Given the description of an element on the screen output the (x, y) to click on. 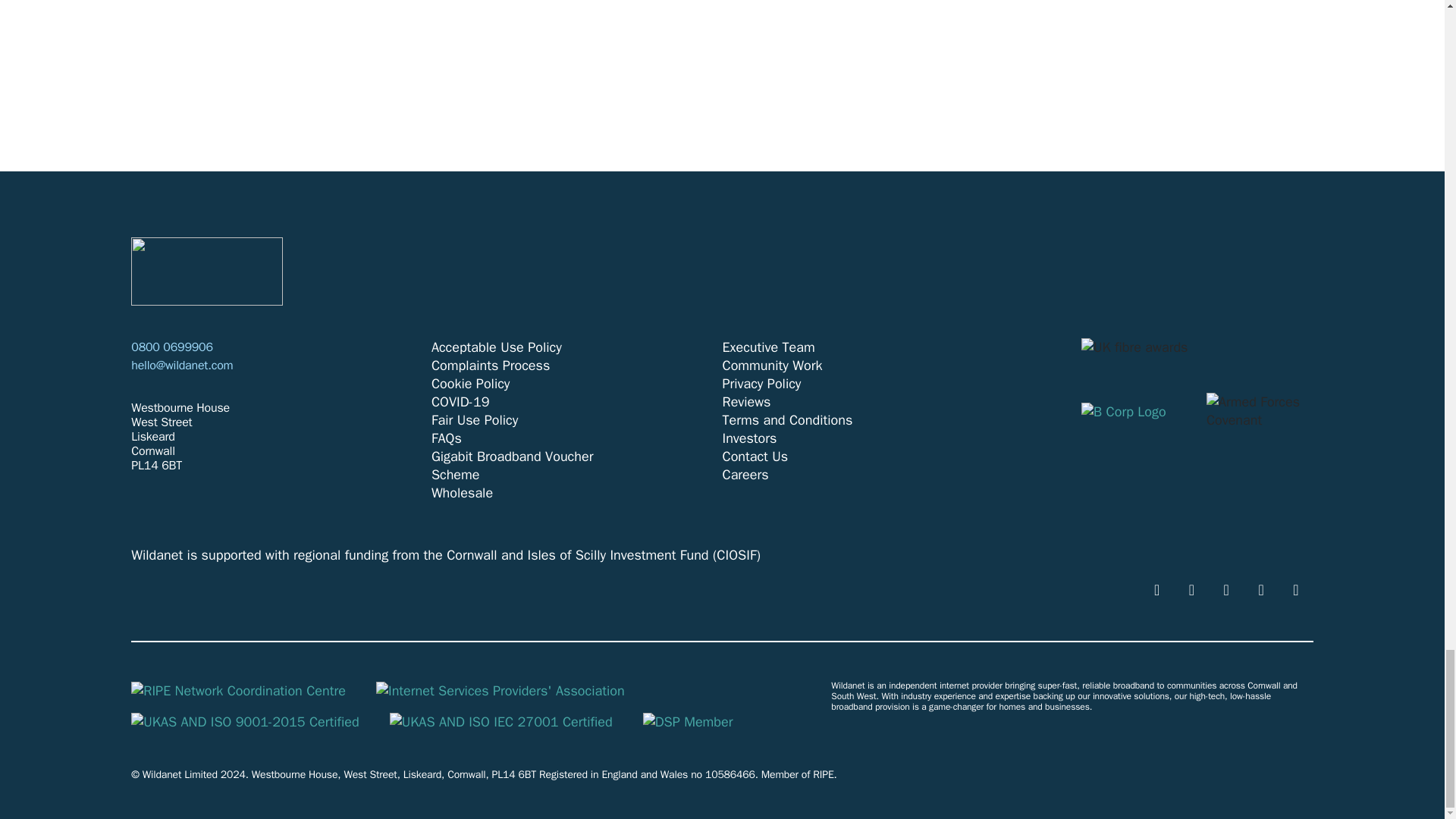
LinkedIn (1261, 589)
Twitter (1226, 589)
YouTube (1156, 589)
Instagram (1295, 589)
Wildanet Logo (206, 271)
Facebook (1191, 589)
